Given the description of an element on the screen output the (x, y) to click on. 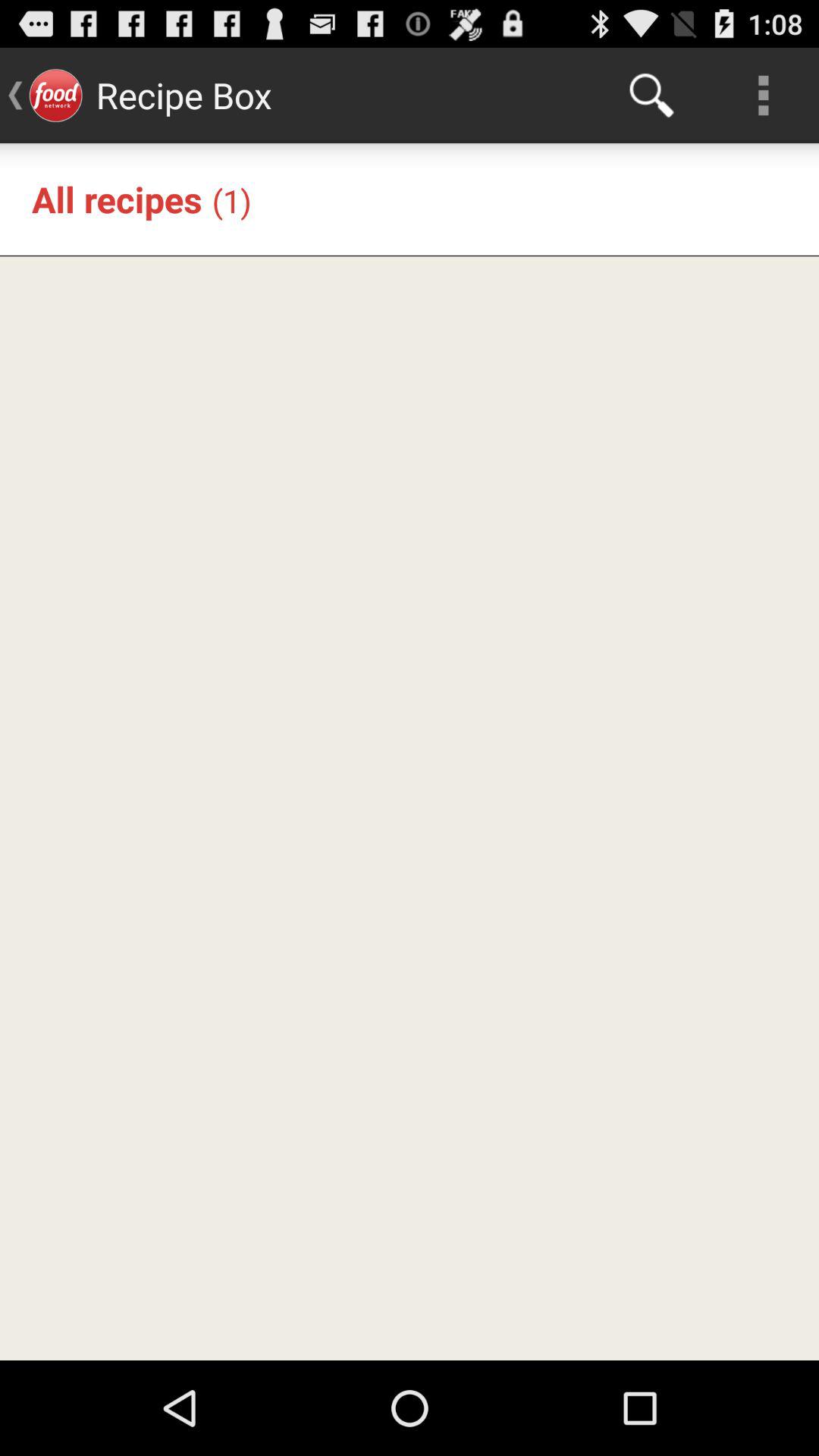
select item to the left of the (1) app (116, 199)
